Given the description of an element on the screen output the (x, y) to click on. 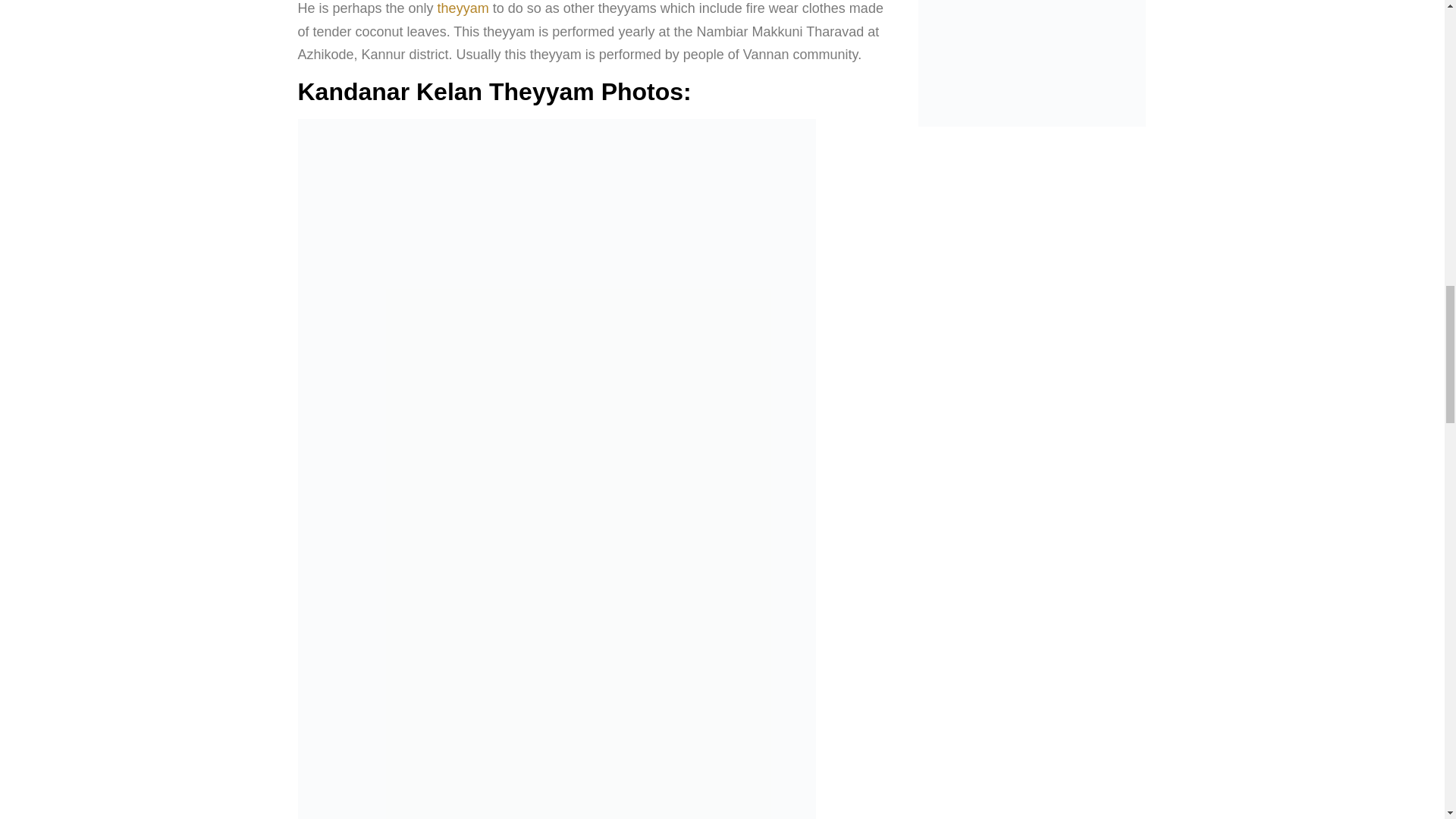
theyyam (463, 7)
